Given the description of an element on the screen output the (x, y) to click on. 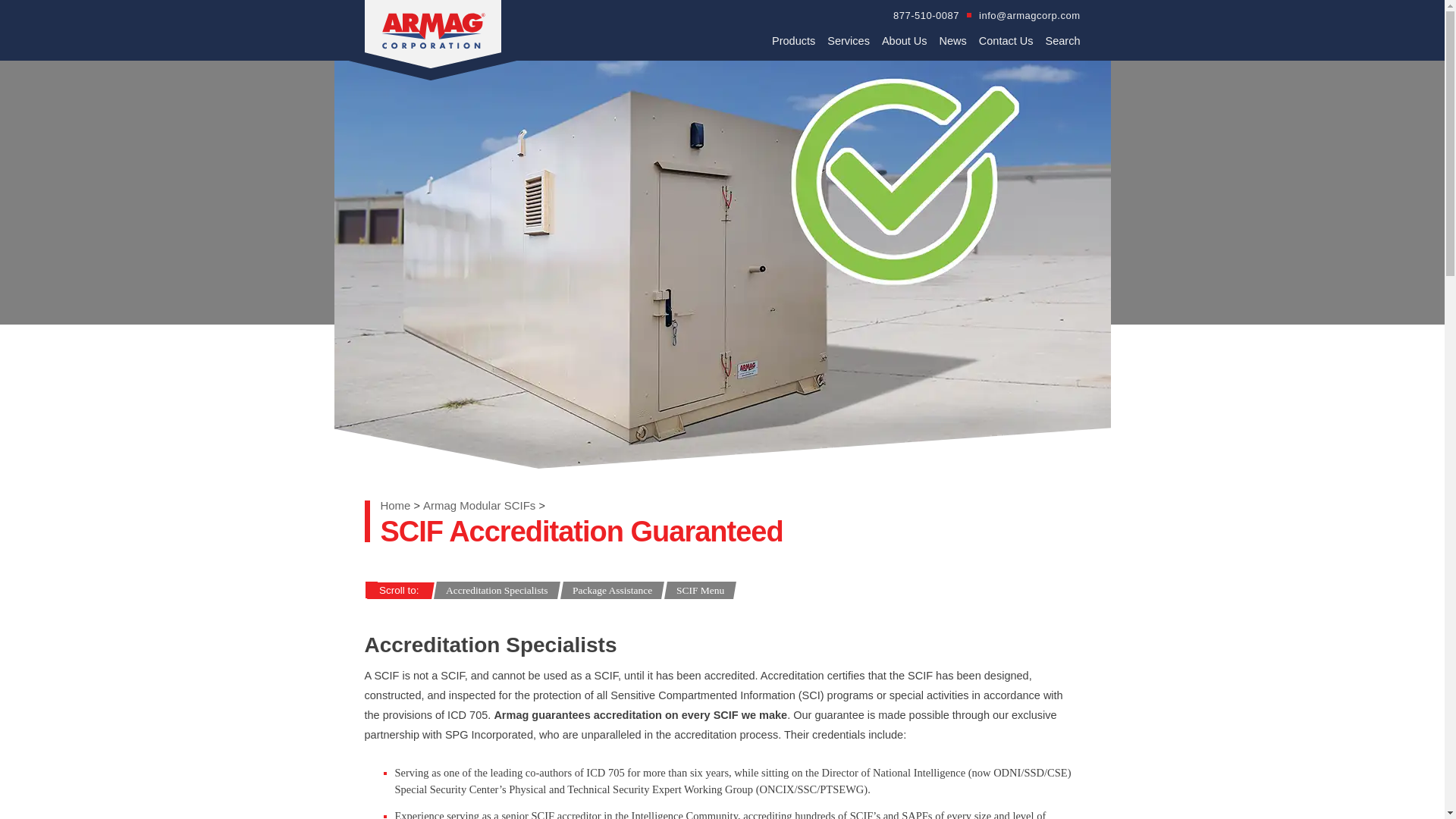
Services (848, 40)
Contact Us (1005, 40)
Search (1062, 40)
Package Assistance (612, 590)
877-510-0087 (926, 15)
News (952, 40)
Go to Armag Corporation. (395, 504)
SCIF Menu (700, 590)
